Given the description of an element on the screen output the (x, y) to click on. 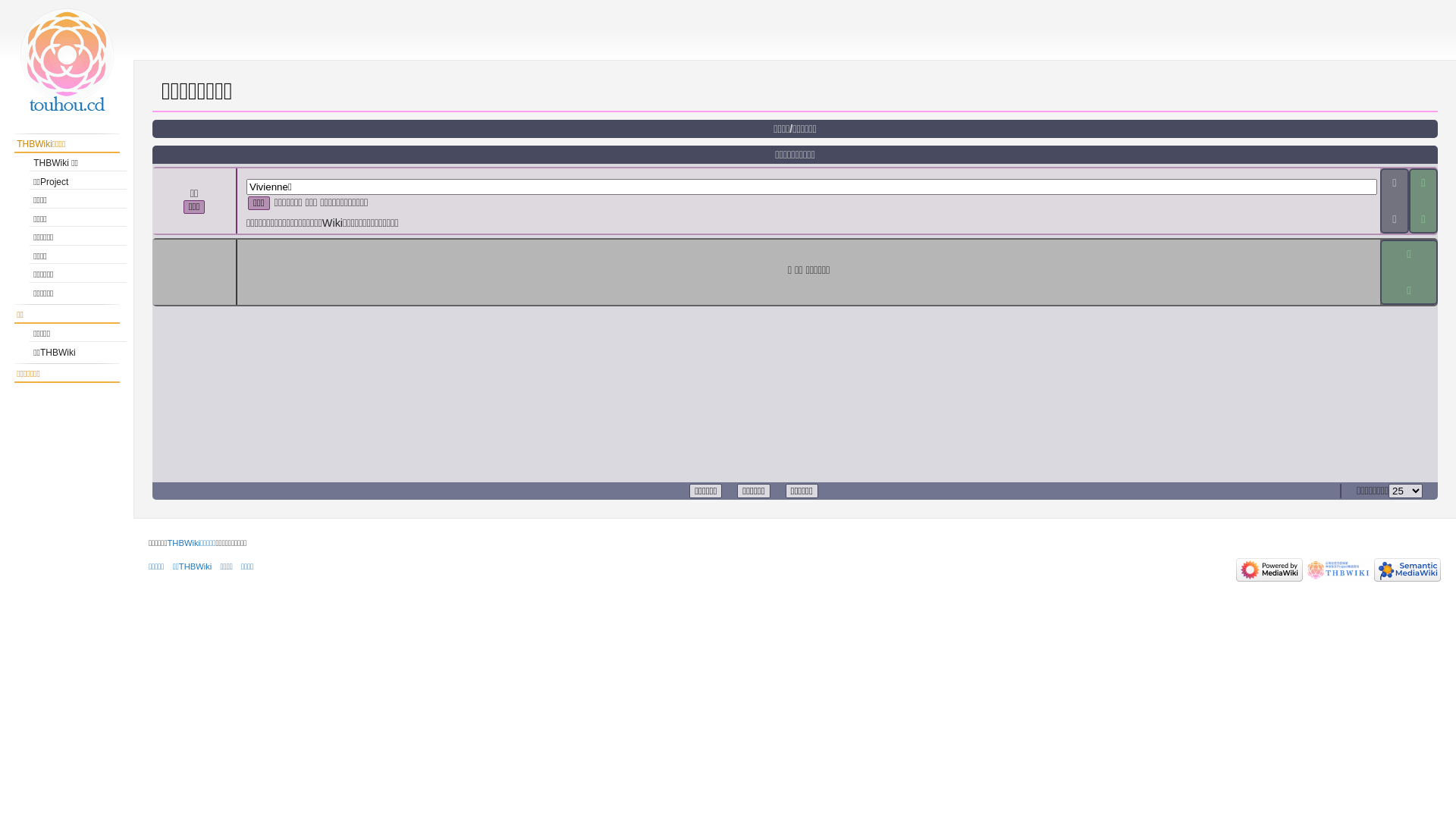
Advertisement Element type: hover (74, 475)
